Given the description of an element on the screen output the (x, y) to click on. 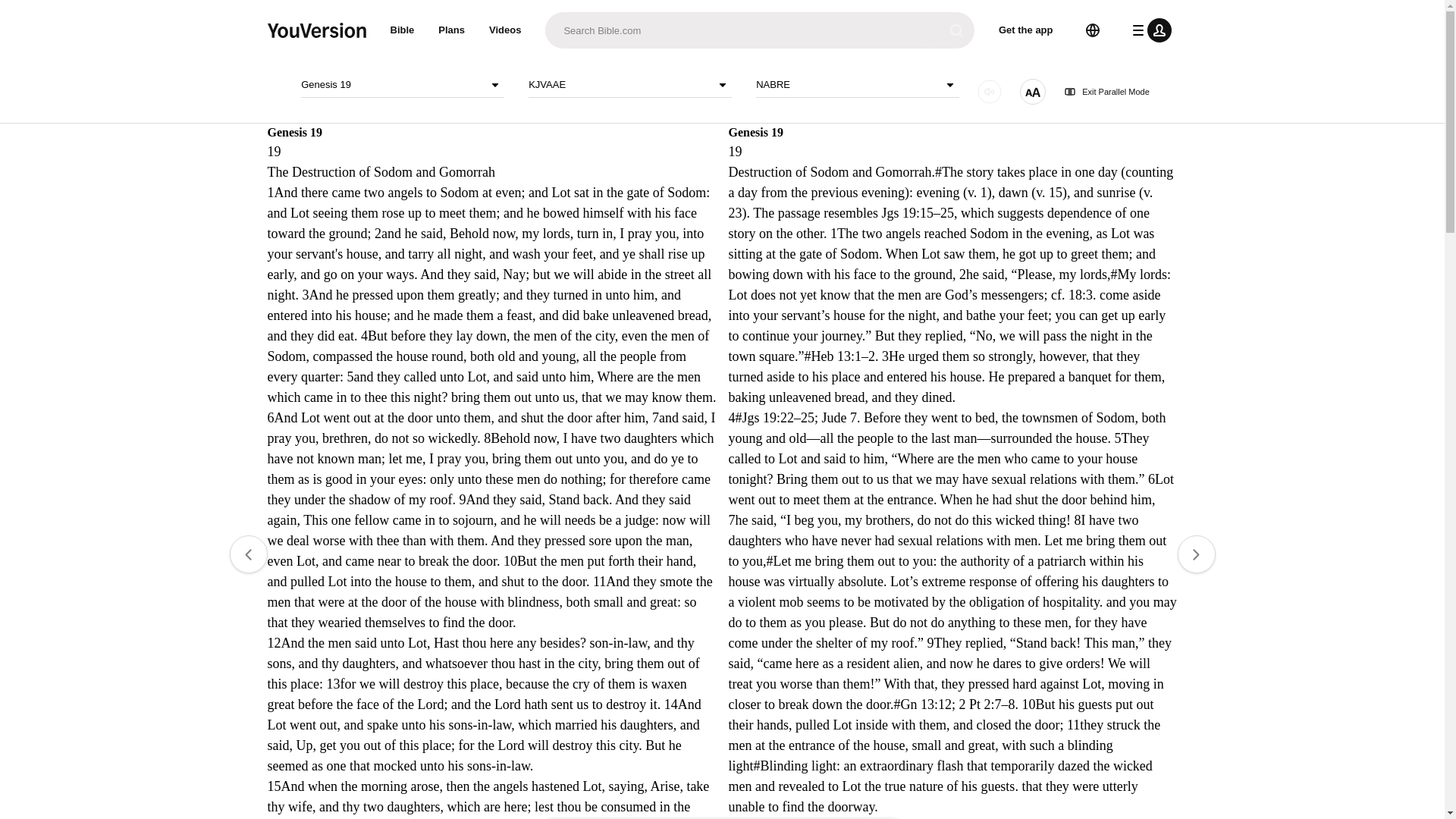
NABRE (857, 84)
Plans (451, 29)
Genesis 19 (402, 84)
Exit Parallel Mode (1107, 91)
Videos (504, 29)
Bible (401, 29)
KJVAAE (630, 84)
Get the app (1026, 29)
